Given the description of an element on the screen output the (x, y) to click on. 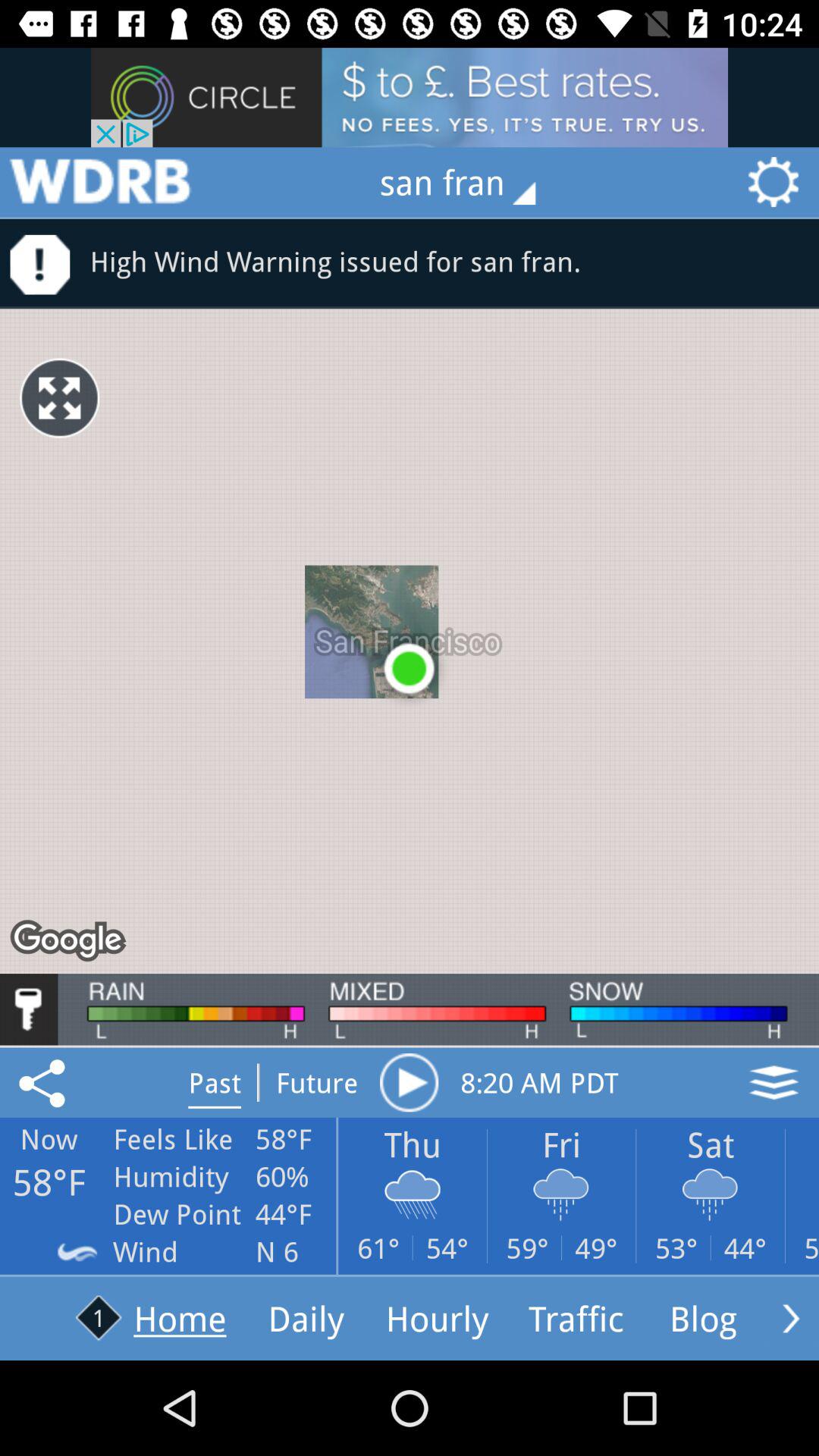
play (409, 1082)
